Given the description of an element on the screen output the (x, y) to click on. 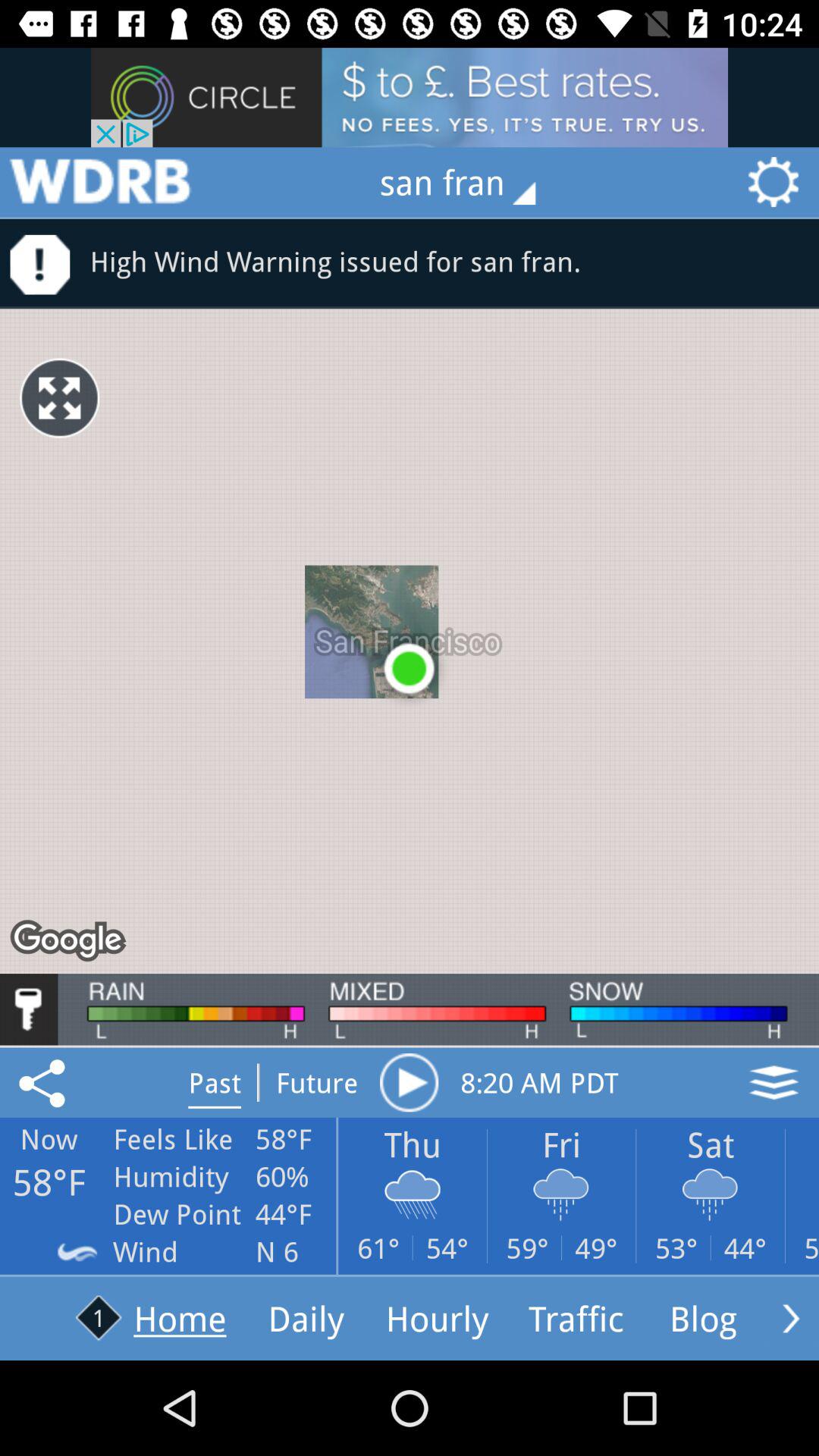
play (409, 1082)
